Given the description of an element on the screen output the (x, y) to click on. 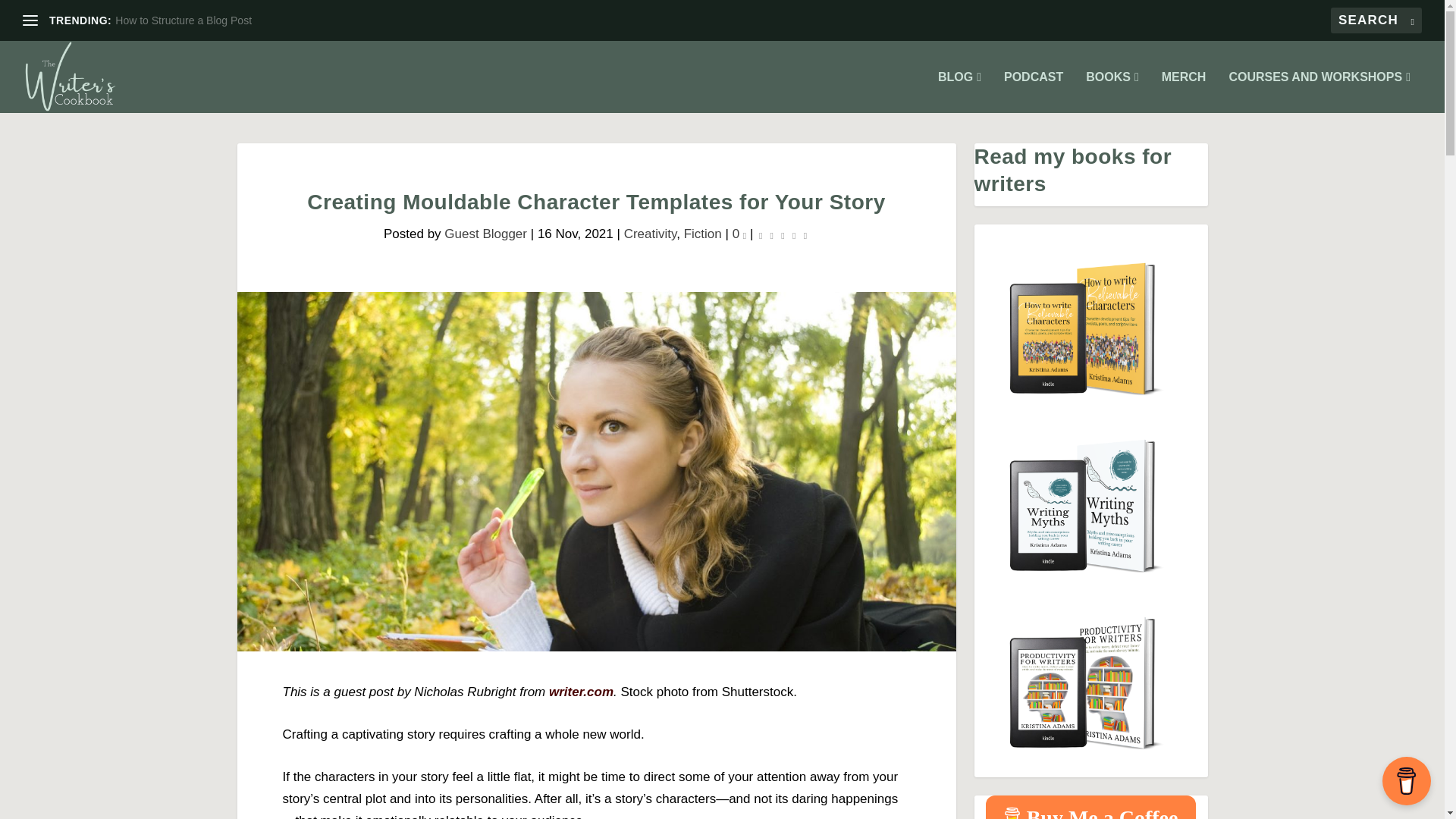
MERCH (1184, 92)
BLOG (959, 92)
Rating: 0.00 (783, 234)
COURSES AND WORKSHOPS (1319, 92)
Posts by Guest Blogger (485, 233)
Search for: (1376, 20)
PODCAST (1033, 92)
BOOKS (1112, 92)
How to Structure a Blog Post (183, 20)
